Given the description of an element on the screen output the (x, y) to click on. 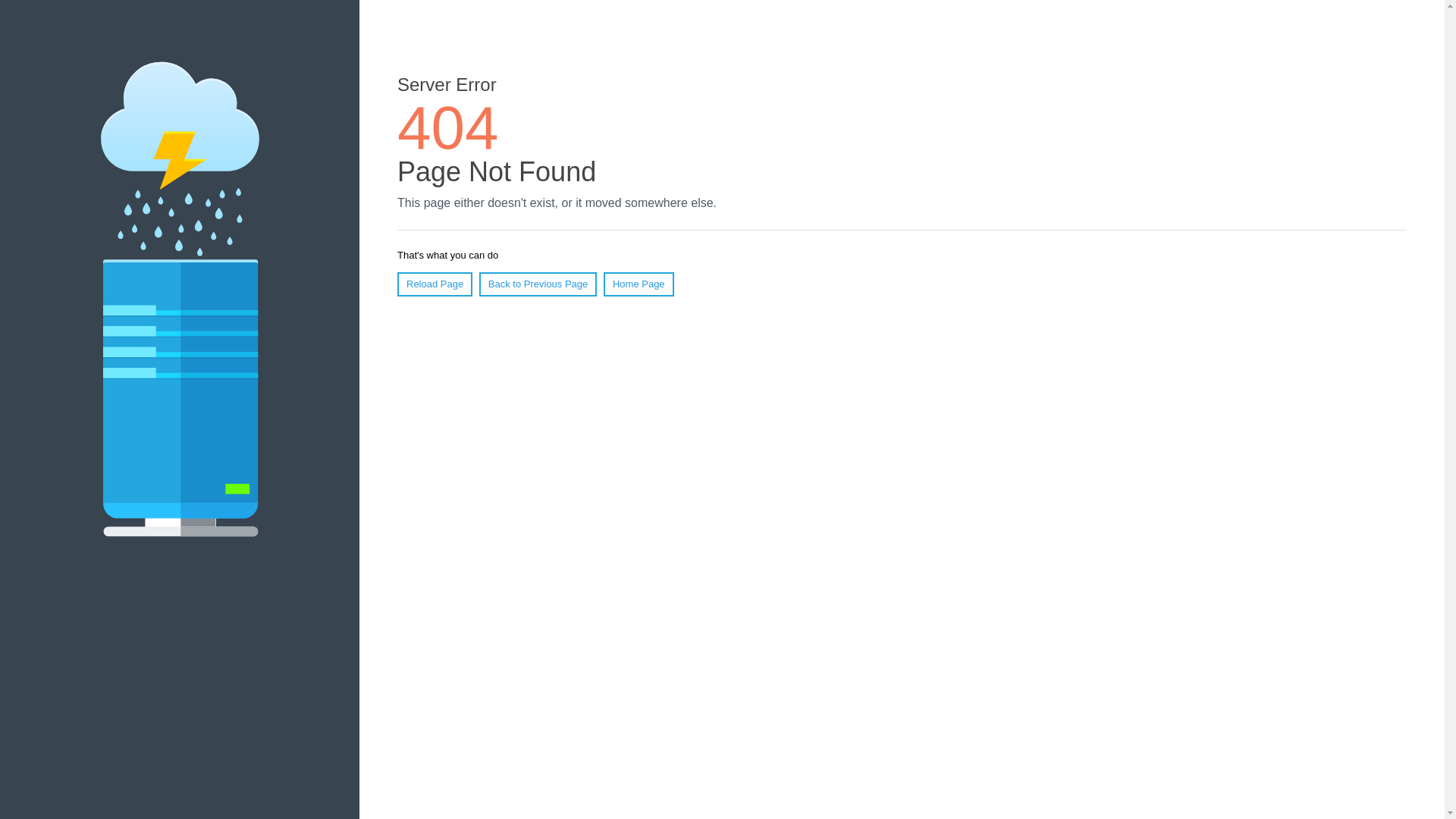
Back to Previous Page Element type: text (538, 284)
Home Page Element type: text (638, 284)
Reload Page Element type: text (434, 284)
